Given the description of an element on the screen output the (x, y) to click on. 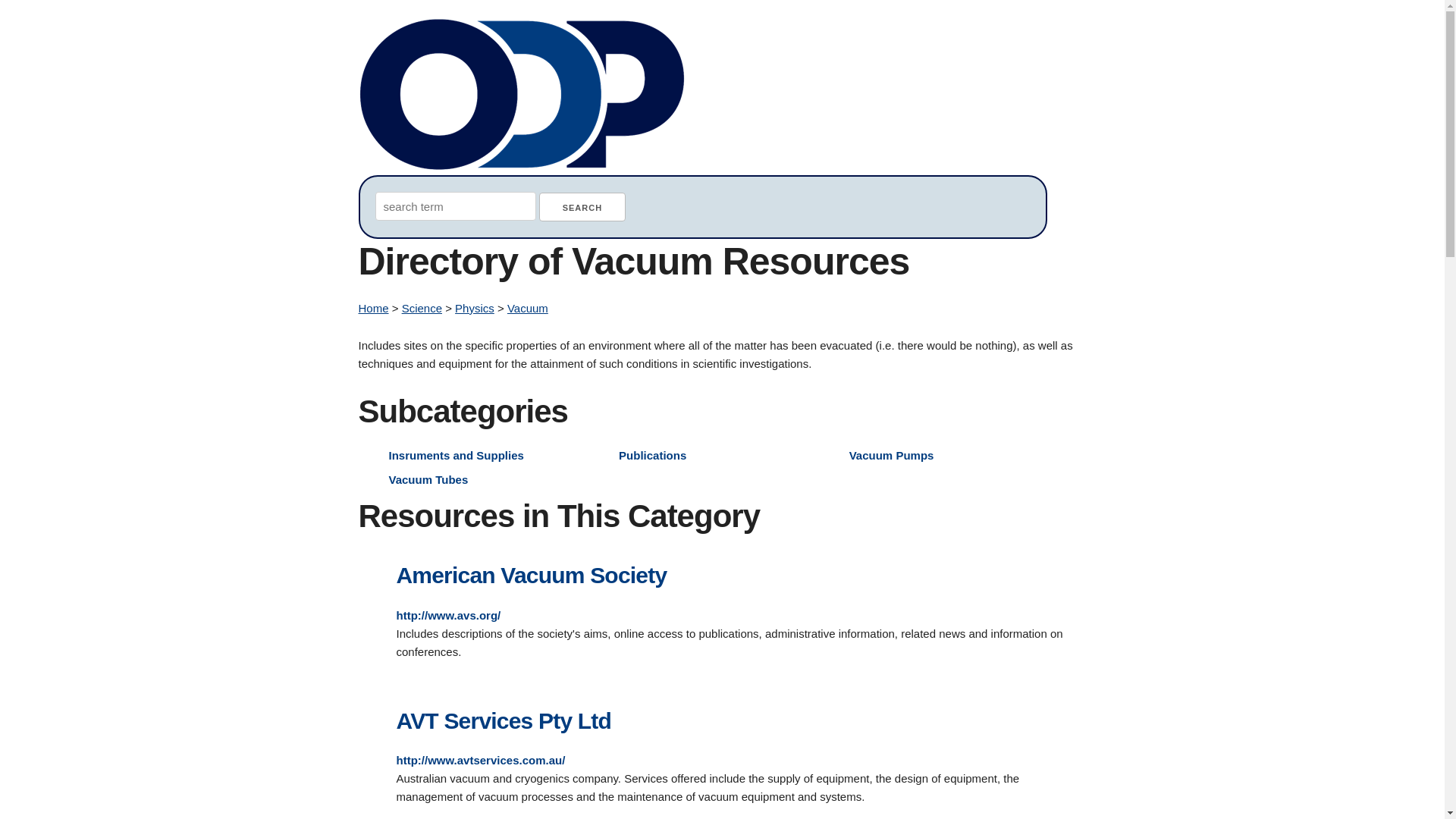
American Vacuum Society (531, 575)
Vacuum (527, 308)
AVT Services Pty Ltd (503, 720)
Publications (651, 454)
Home (373, 308)
Vacuum Tubes (427, 479)
Search (582, 206)
Insruments and Supplies (455, 454)
Science (421, 308)
Search (582, 206)
